Given the description of an element on the screen output the (x, y) to click on. 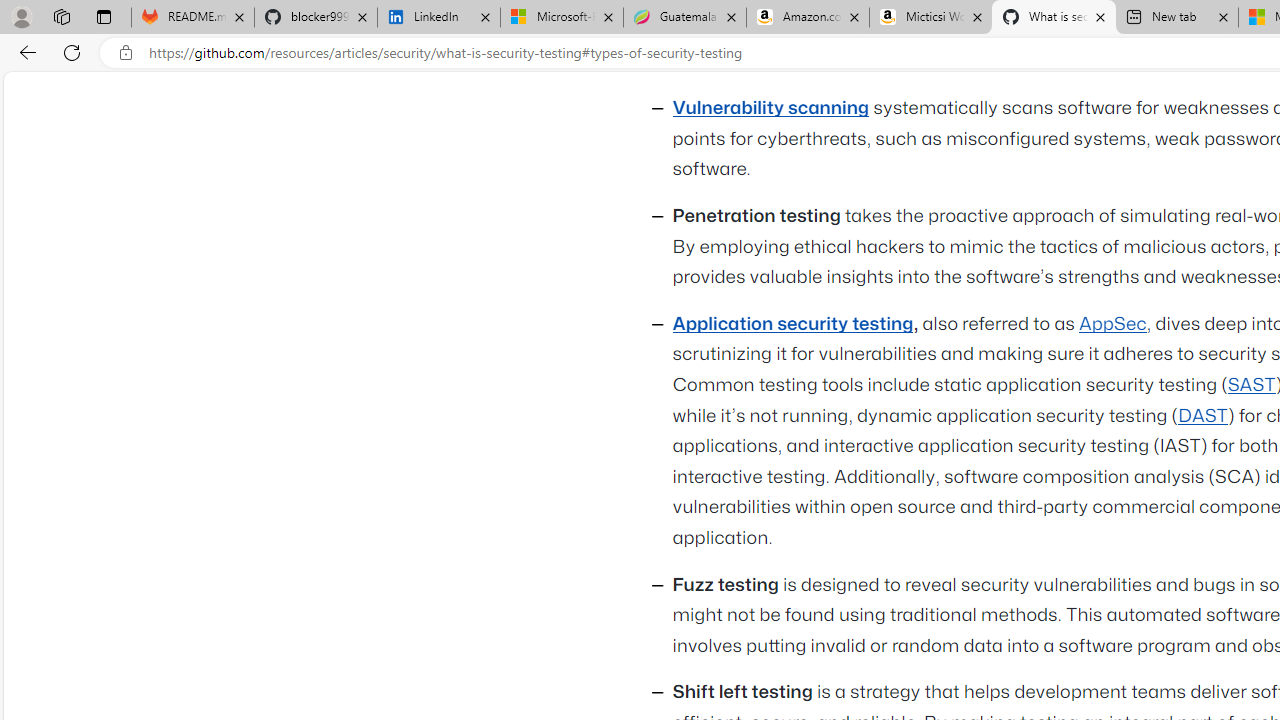
Application security testing (792, 323)
SAST (1251, 384)
